Given the description of an element on the screen output the (x, y) to click on. 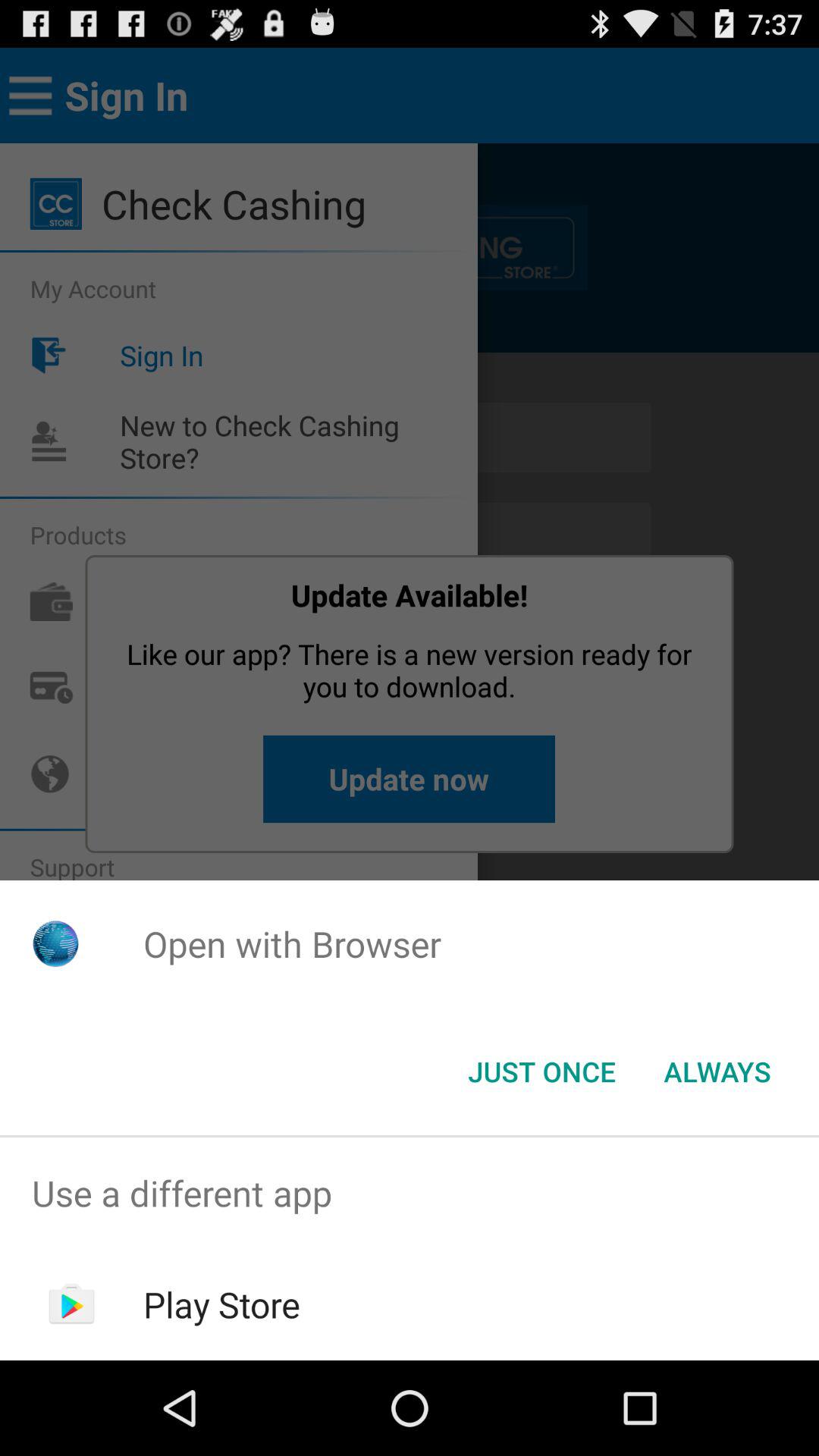
scroll until the use a different item (409, 1192)
